Given the description of an element on the screen output the (x, y) to click on. 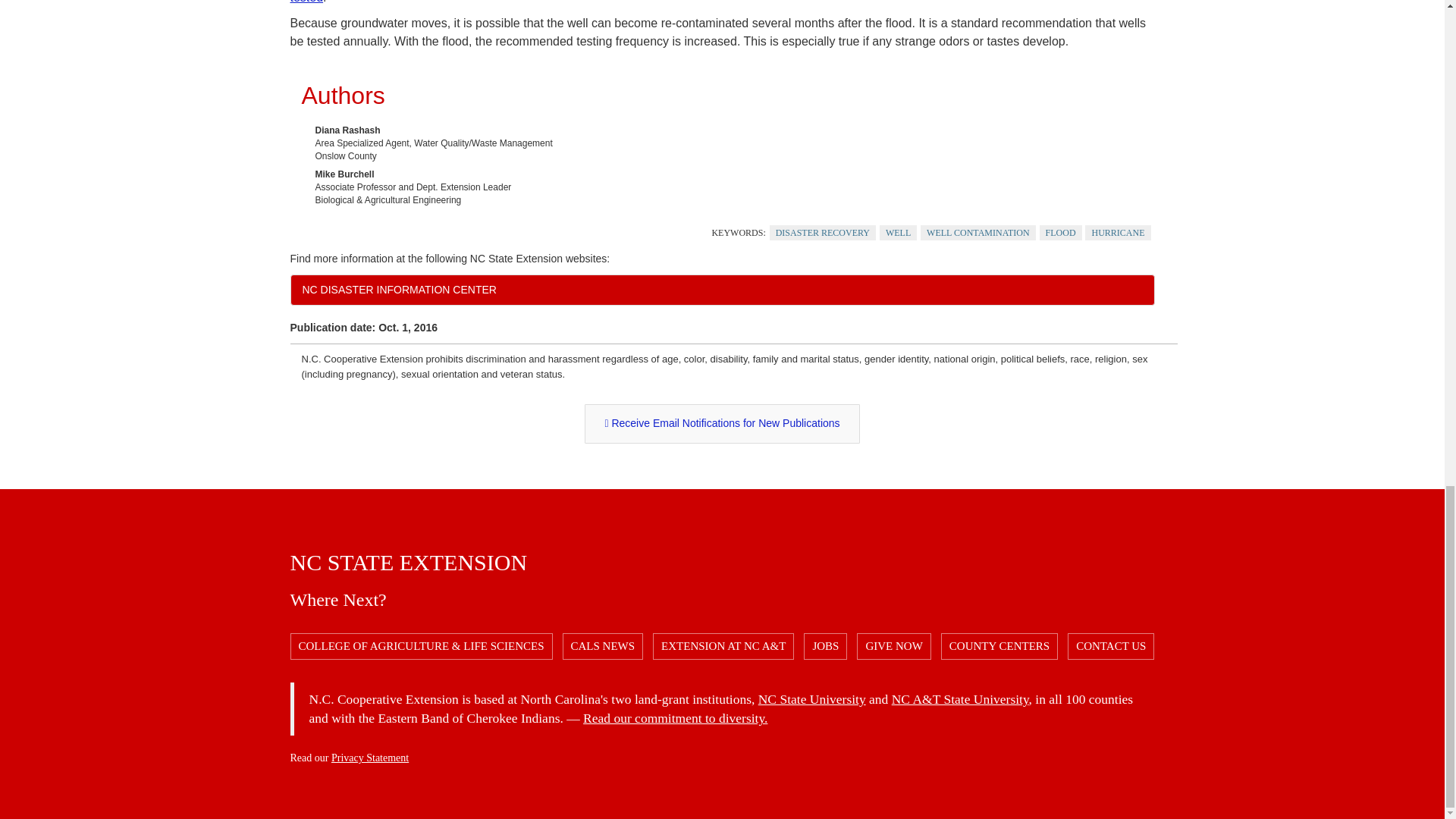
NC STATE EXTENSION (408, 561)
NC DISASTER INFORMATION CENTER (721, 289)
FLOOD (1060, 232)
Receive Email Notifications for New Publications (722, 423)
WELL (898, 232)
DISASTER RECOVERY (823, 232)
WELL CONTAMINATION (977, 232)
HURRICANE (1117, 232)
CALS NEWS (602, 646)
